Given the description of an element on the screen output the (x, y) to click on. 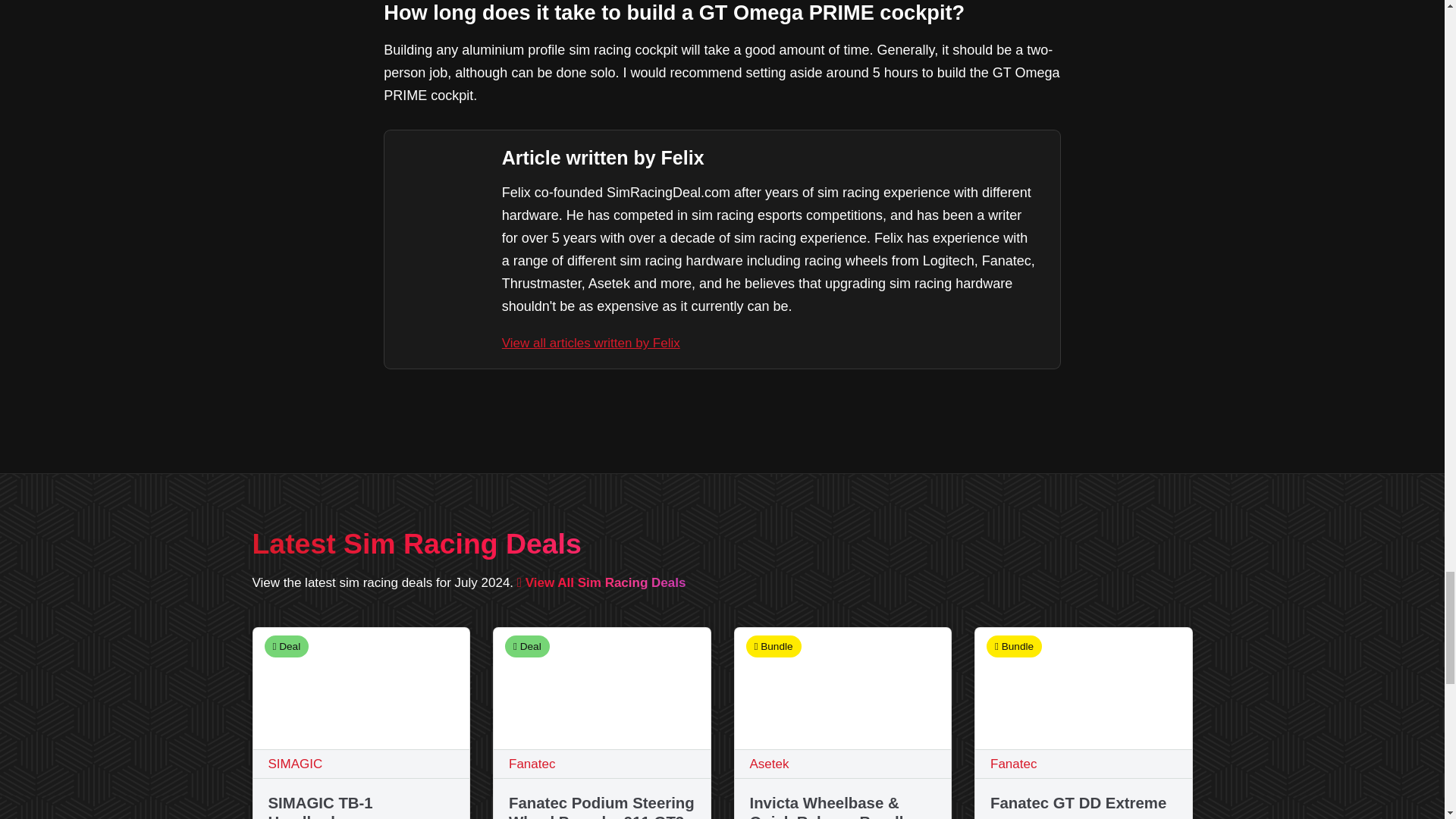
Posts by Felix (590, 342)
